Given the description of an element on the screen output the (x, y) to click on. 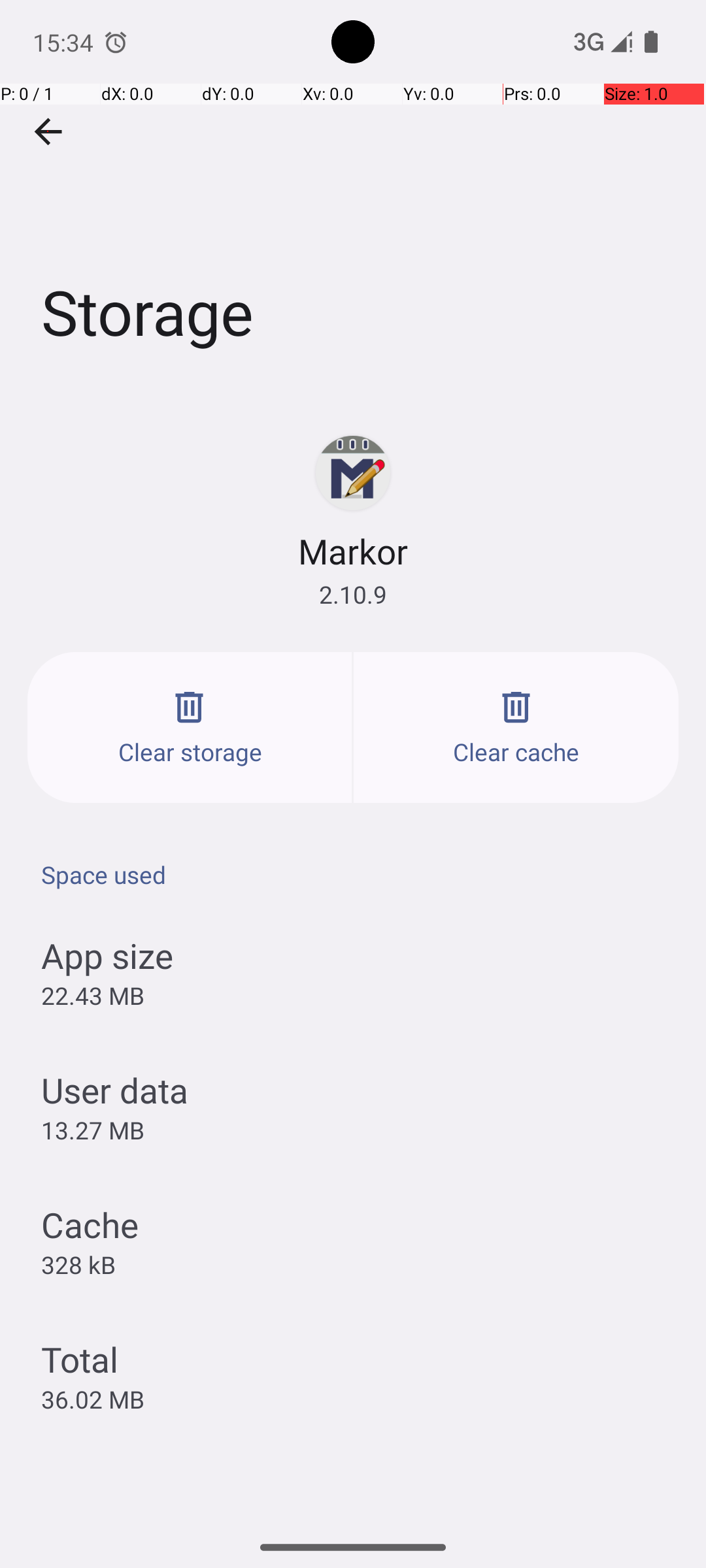
2.10.9 Element type: android.widget.TextView (352, 593)
22.43 MB Element type: android.widget.TextView (92, 995)
13.27 MB Element type: android.widget.TextView (92, 1129)
328 kB Element type: android.widget.TextView (78, 1264)
36.02 MB Element type: android.widget.TextView (92, 1398)
